Given the description of an element on the screen output the (x, y) to click on. 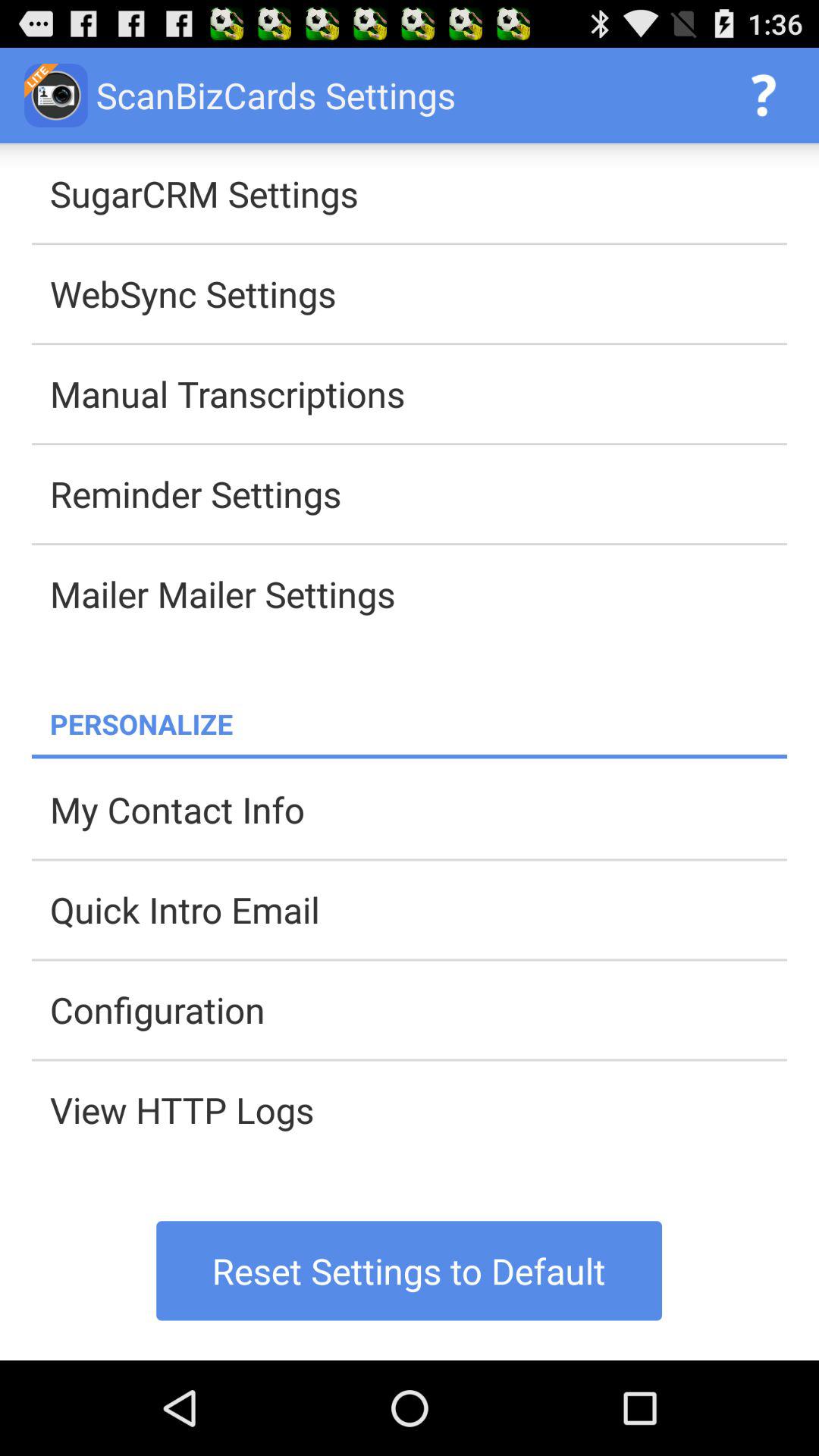
jump until websync settings app (418, 293)
